Given the description of an element on the screen output the (x, y) to click on. 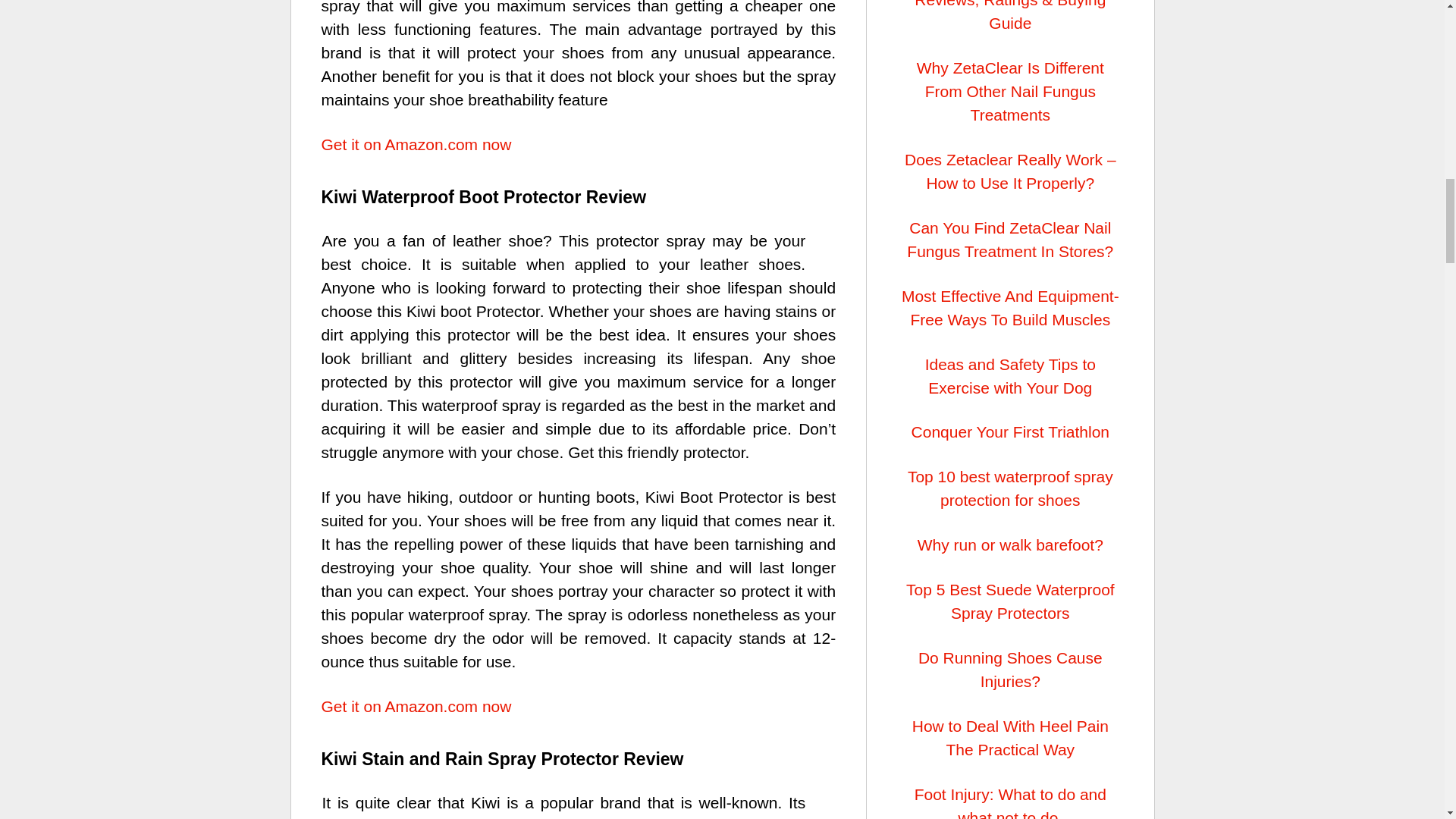
Get it on Amazon.com now (416, 705)
Get it on Amazon.com now (416, 144)
